Given the description of an element on the screen output the (x, y) to click on. 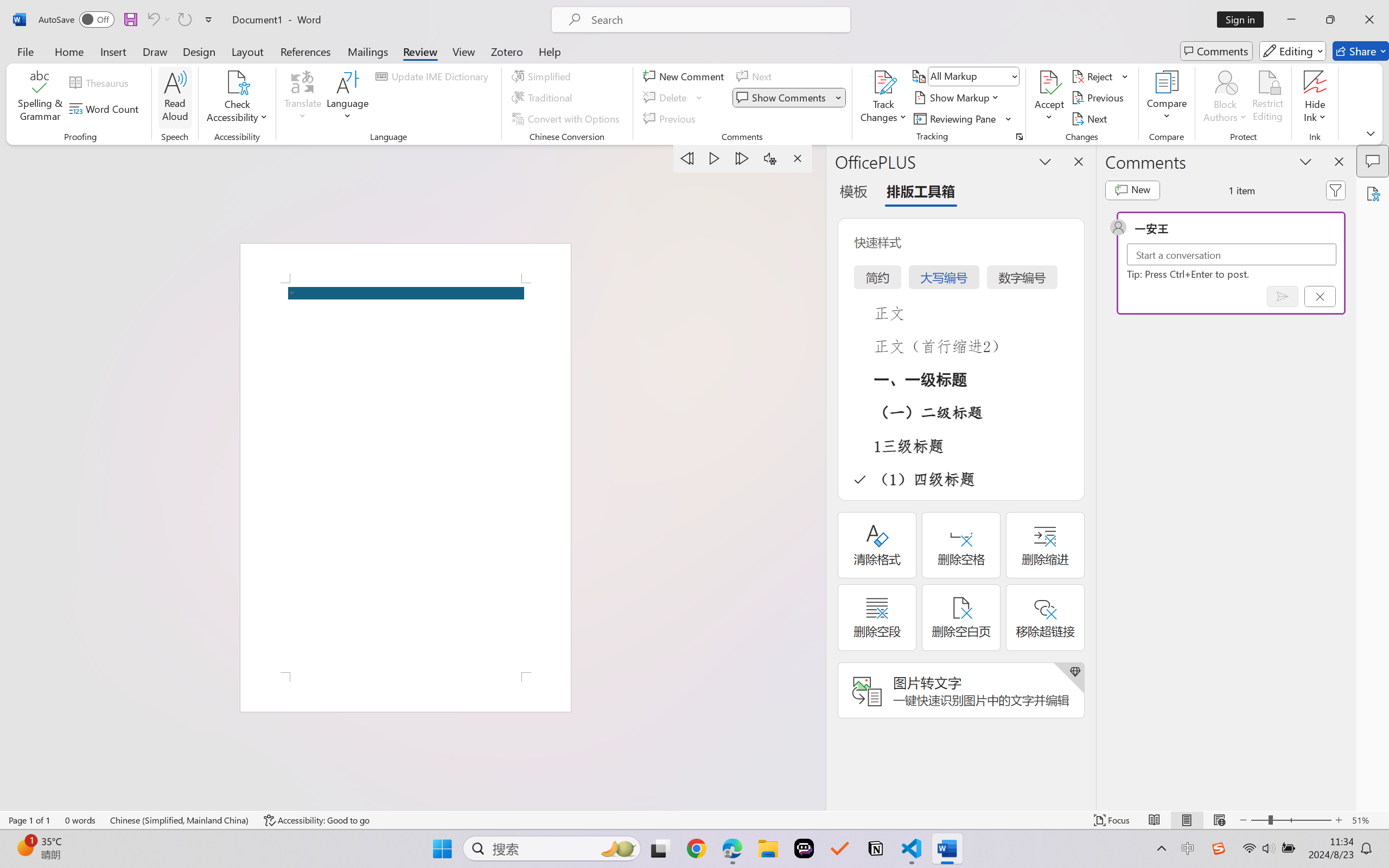
Language (347, 97)
Undo Apply Quick Style Set (158, 19)
Block Authors (1224, 97)
Hide Ink (1315, 81)
Accept (1049, 97)
Show Comments (788, 97)
